Given the description of an element on the screen output the (x, y) to click on. 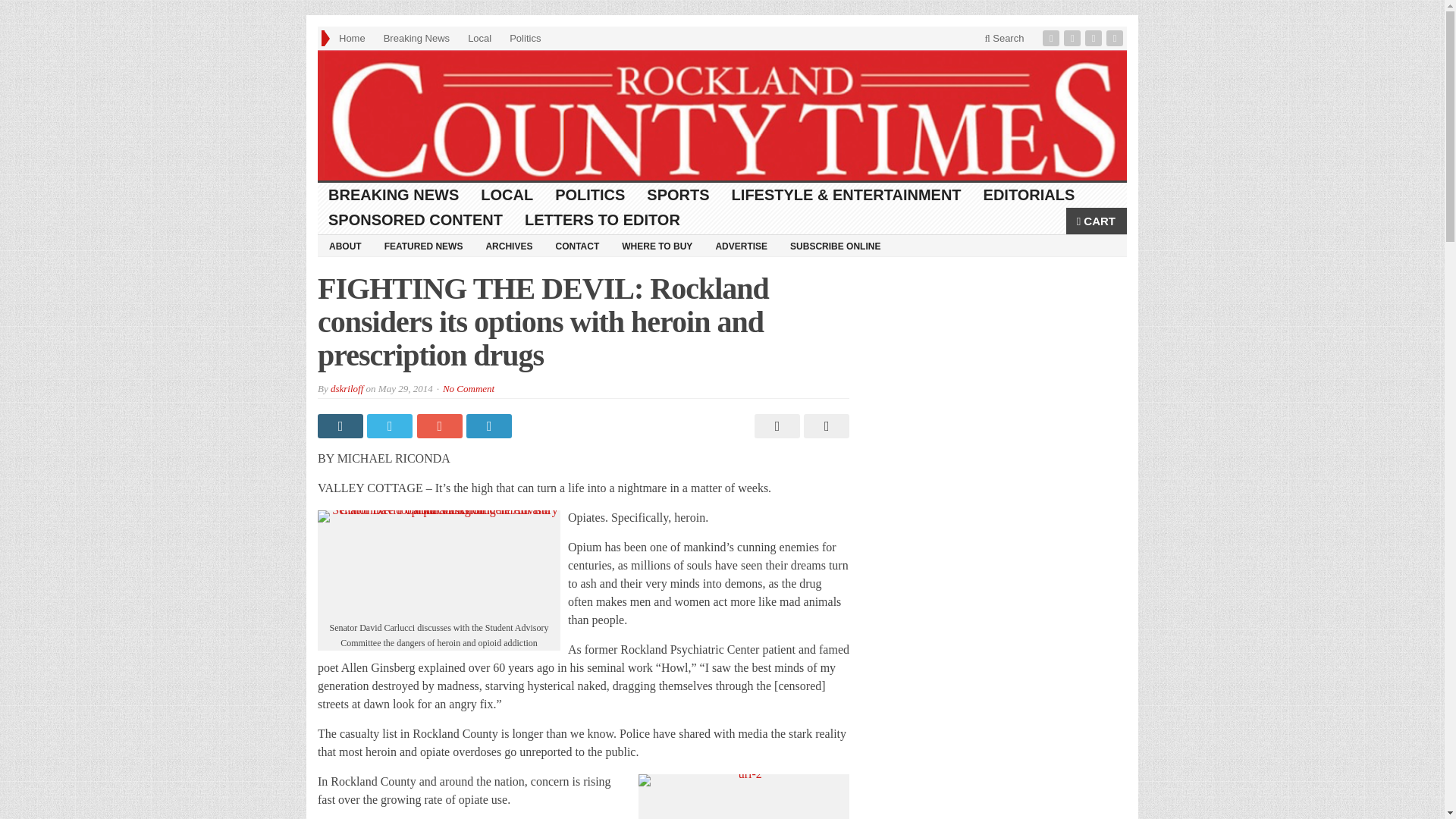
Local (479, 37)
WHERE TO BUY (656, 245)
FEATURED NEWS (423, 245)
EDITORIALS (1029, 195)
Home (352, 37)
BREAKING NEWS (393, 195)
ADVERTISE (740, 245)
SPORTS (678, 195)
SUBSCRIBE ONLINE (834, 245)
POLITICS (590, 195)
LETTERS TO EDITOR (602, 220)
LOCAL (507, 195)
ARCHIVES (508, 245)
Politics (525, 37)
ABOUT (344, 245)
